Given the description of an element on the screen output the (x, y) to click on. 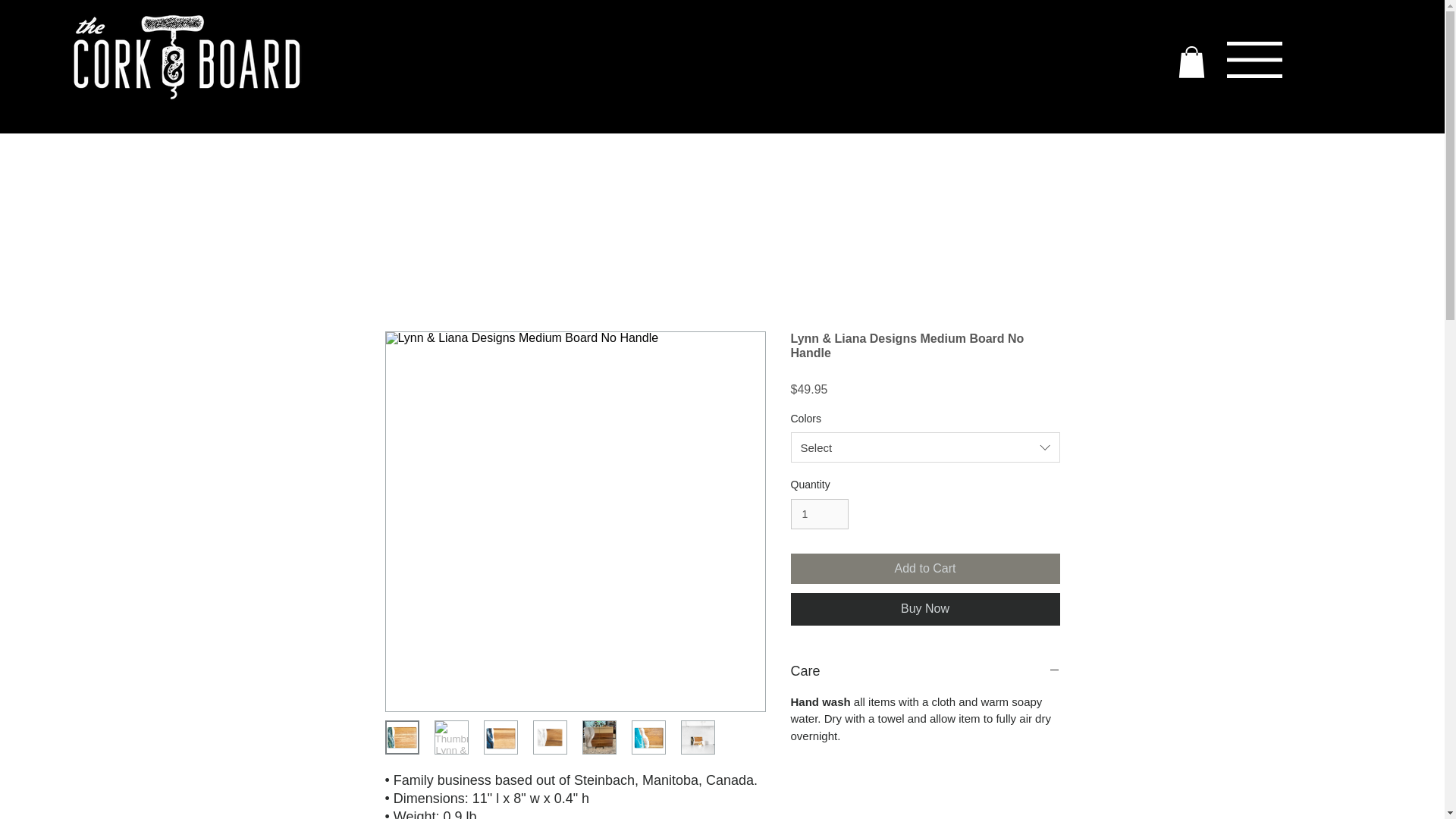
Select (924, 447)
Care (924, 670)
Add to Cart (924, 568)
Buy Now (924, 608)
1 (818, 513)
